Given the description of an element on the screen output the (x, y) to click on. 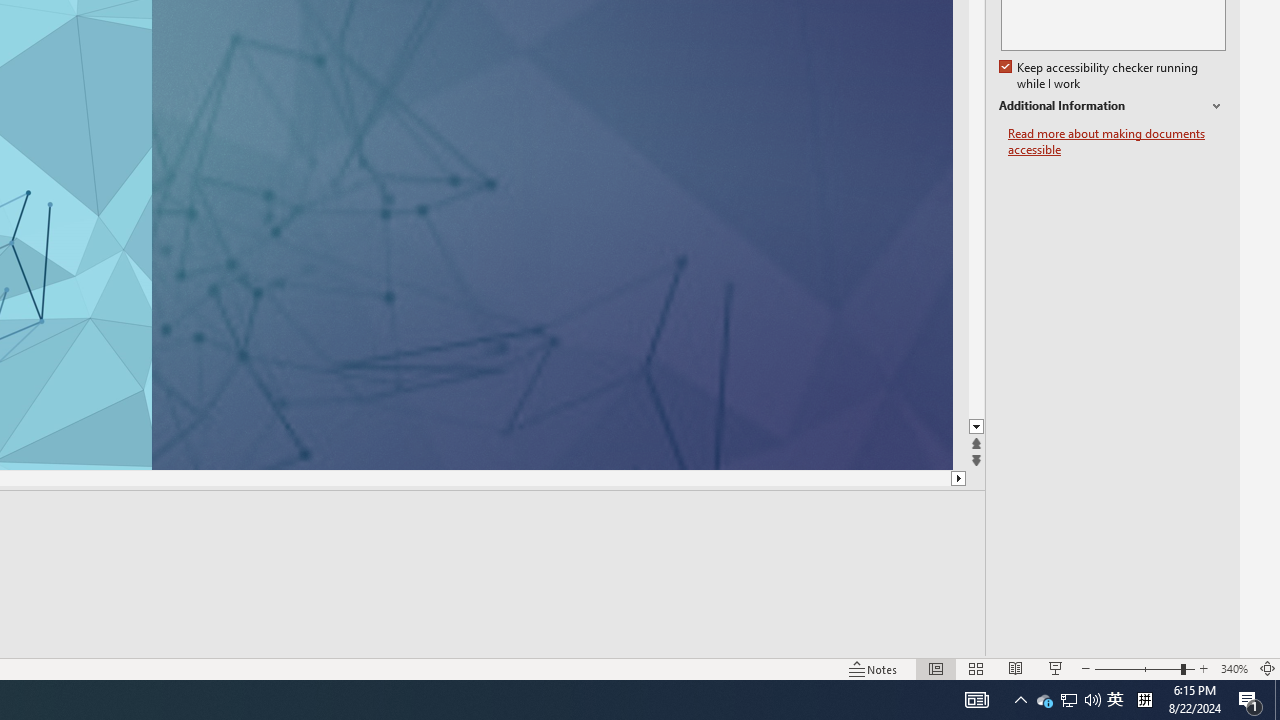
Zoom 340% (1234, 668)
